Given the description of an element on the screen output the (x, y) to click on. 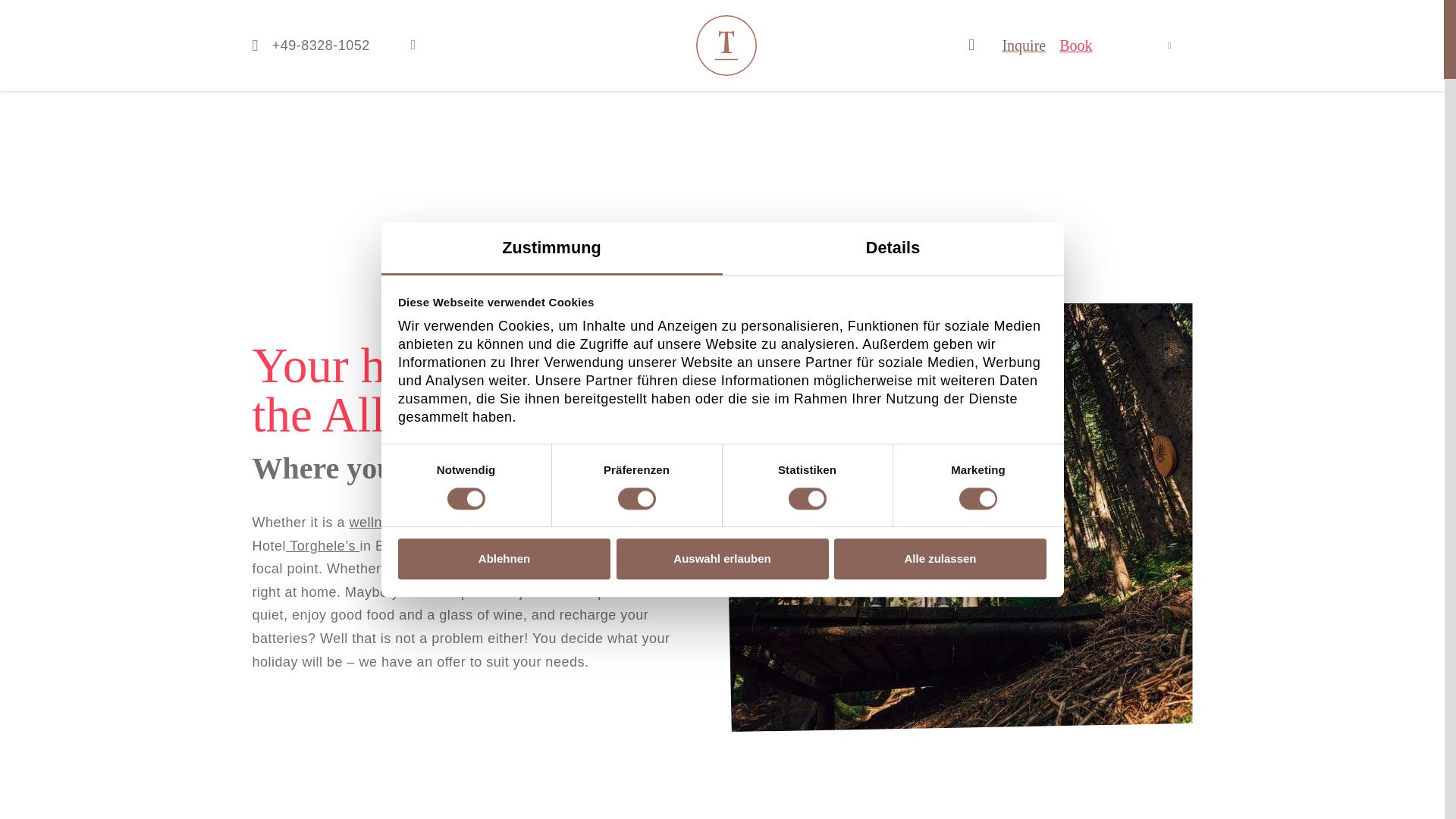
Hotelerei Torghele's (726, 45)
Zustimmung (551, 248)
Details (892, 248)
